Given the description of an element on the screen output the (x, y) to click on. 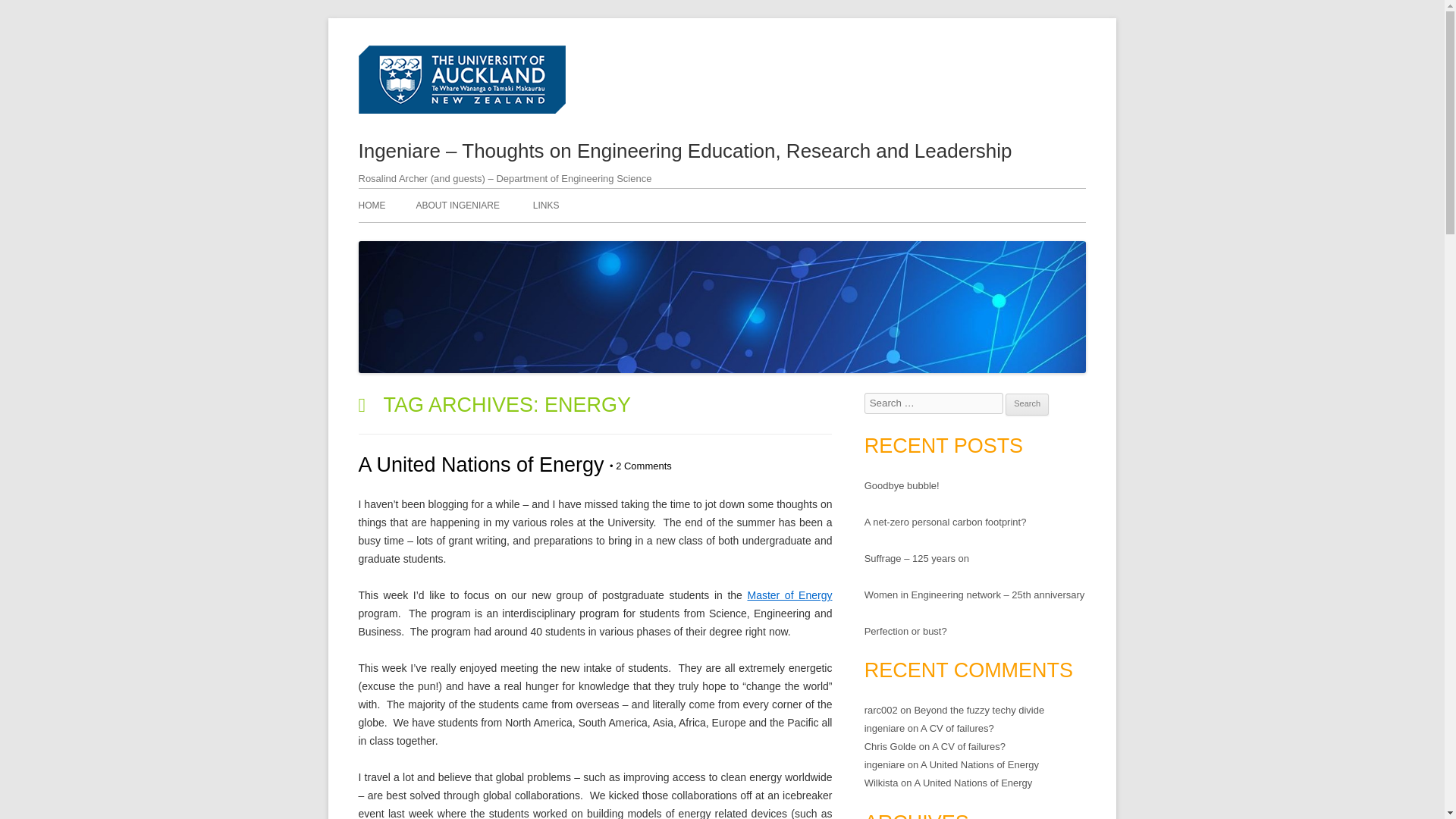
Skip to content (869, 50)
Search (1027, 404)
Search (1027, 404)
Search (1027, 404)
Skip to content (869, 50)
A United Nations of Energy (481, 464)
Master of Energy (788, 594)
ABOUT INGENIARE (456, 205)
Perfection or bust? (905, 630)
A net-zero personal carbon footprint? (945, 521)
